Given the description of an element on the screen output the (x, y) to click on. 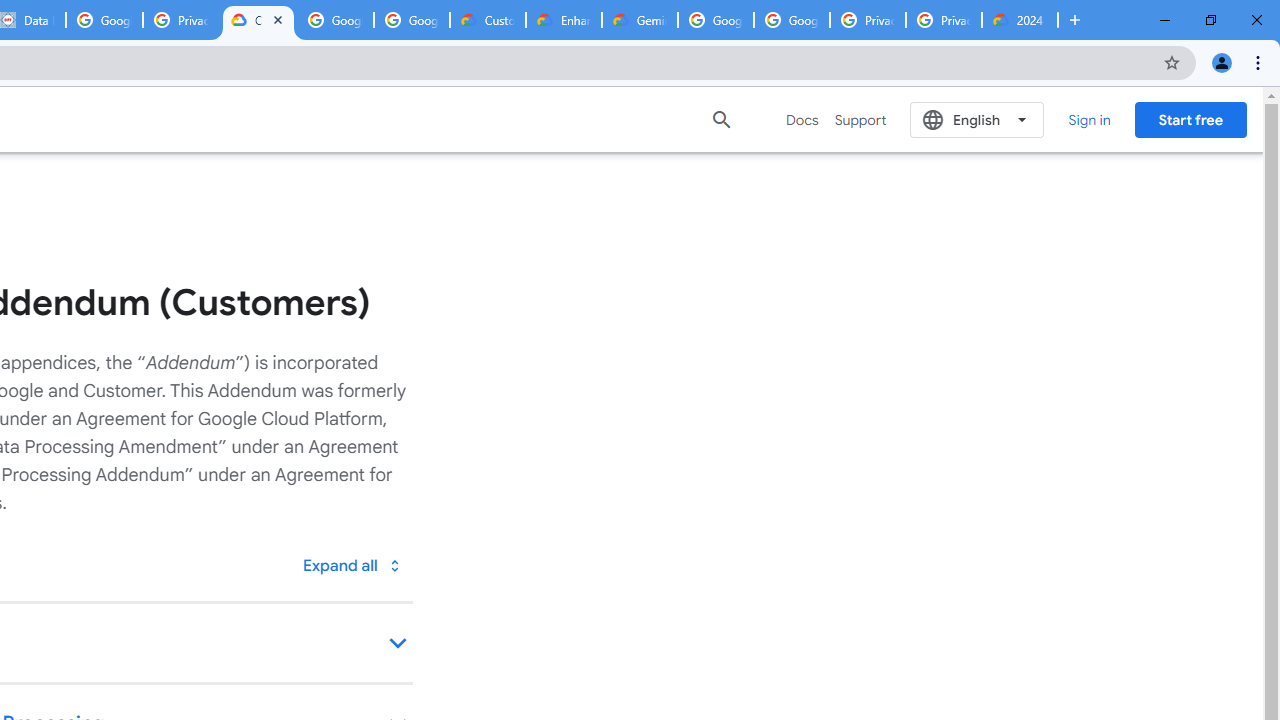
Docs (802, 119)
Google Cloud Platform (715, 20)
Start free (1190, 119)
Google Workspace - Specific Terms (335, 20)
Toggle all (351, 564)
Enhanced Support | Google Cloud (563, 20)
